Given the description of an element on the screen output the (x, y) to click on. 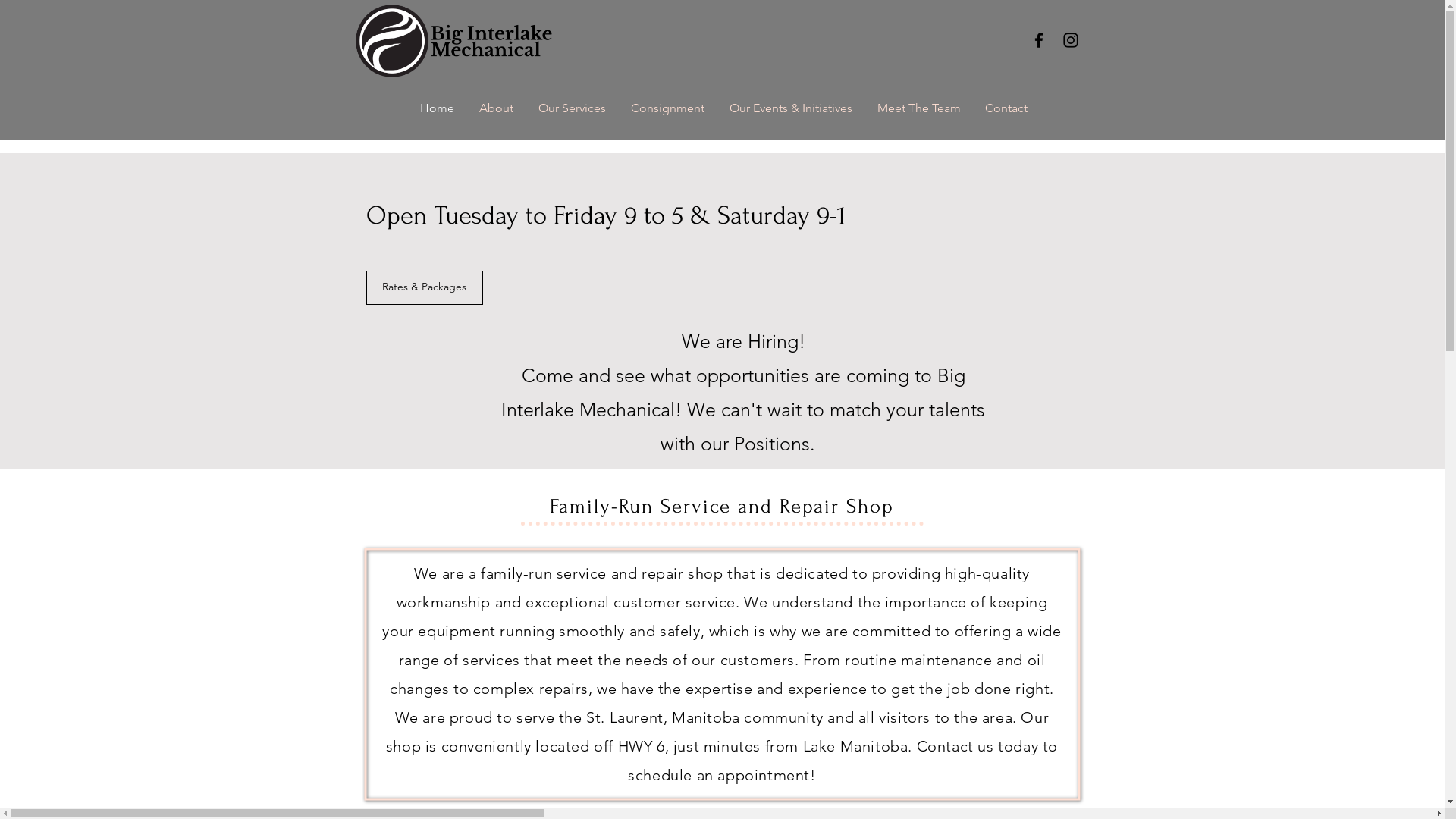
Meet The Team Element type: text (916, 108)
biglogo_mechanicalSept14_2021.webp Element type: hover (453, 40)
Home Element type: text (435, 108)
Our Events & Initiatives Element type: text (789, 108)
About Element type: text (494, 108)
Contact Element type: text (1005, 108)
Rates & Packages Element type: text (423, 287)
Our Services Element type: text (570, 108)
Consignment Element type: text (666, 108)
